Given the description of an element on the screen output the (x, y) to click on. 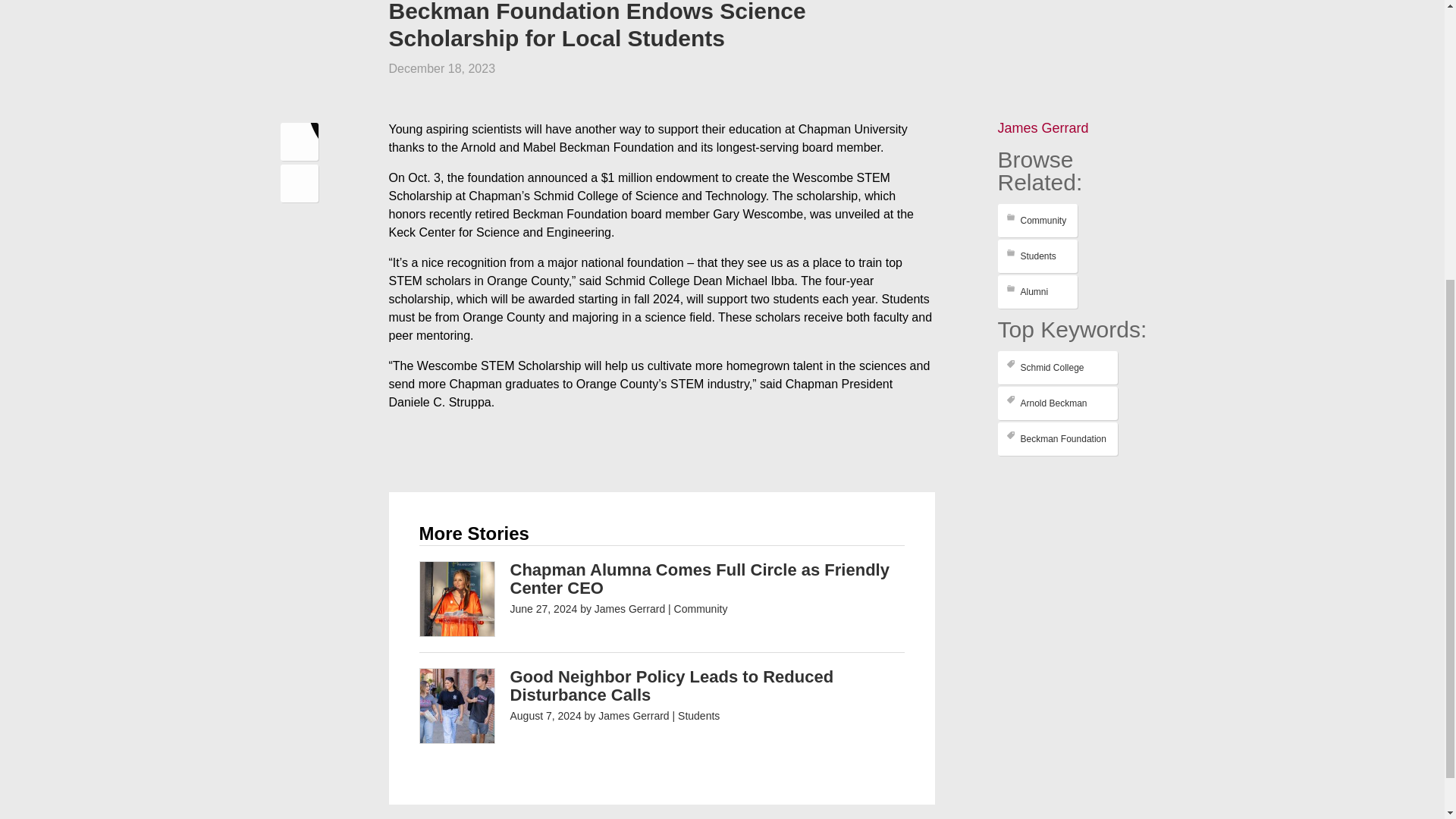
Chapman Alumna Comes Full Circle as Friendly Center CEO (698, 578)
Students (1037, 255)
Schmid College (1057, 367)
James Gerrard (629, 608)
Community (1037, 220)
Beckman Foundation (1057, 438)
Good Neighbor Policy Leads to Reduced Disturbance Calls (670, 685)
James Gerrard (1043, 127)
Arnold Beckman (1057, 403)
Posts by James Gerrard (629, 608)
